Given the description of an element on the screen output the (x, y) to click on. 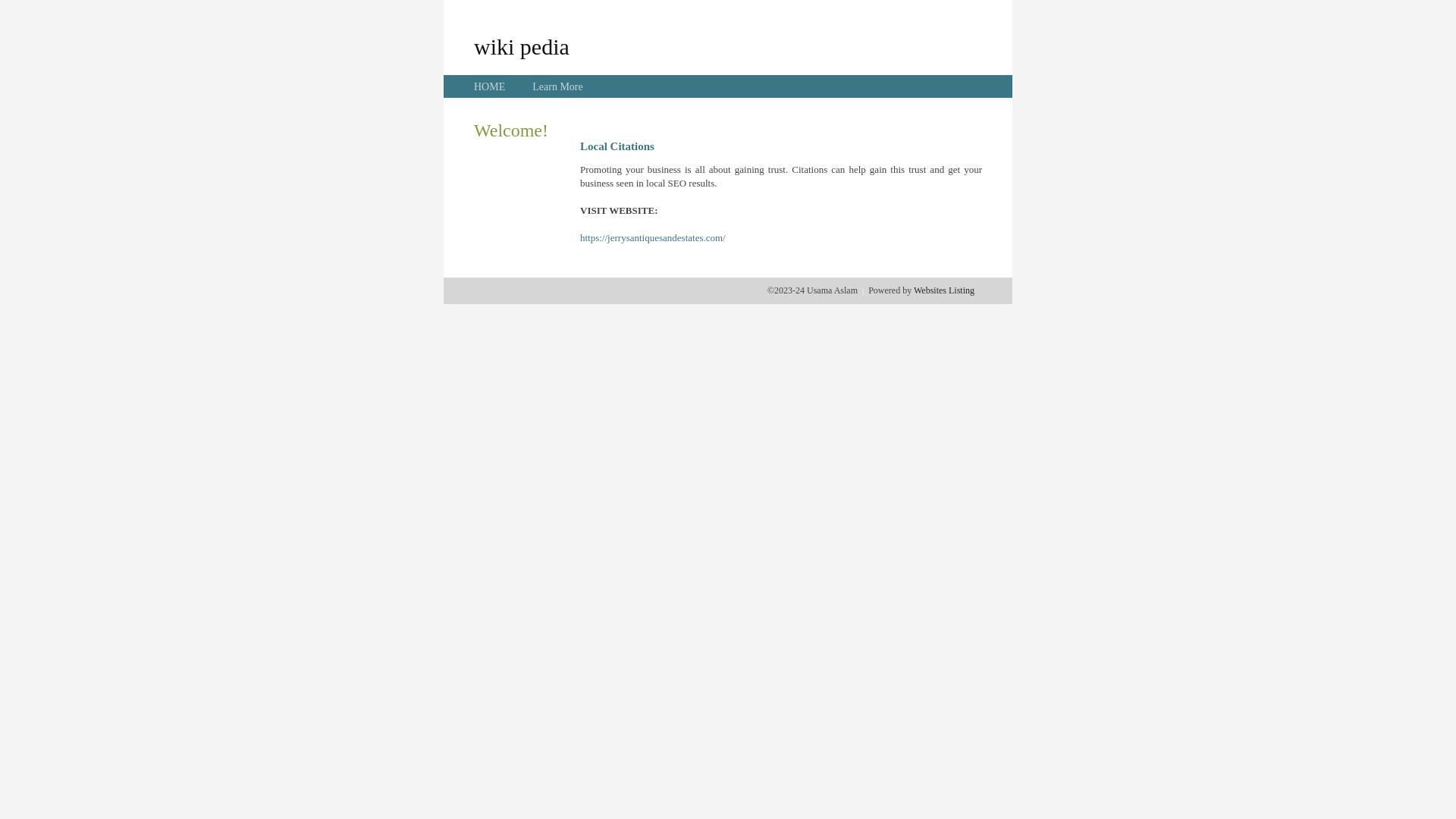
wiki pedia Element type: text (521, 46)
Learn More Element type: text (557, 86)
HOME Element type: text (489, 86)
https://jerrysantiquesandestates.com/ Element type: text (652, 237)
Websites Listing Element type: text (943, 290)
